Given the description of an element on the screen output the (x, y) to click on. 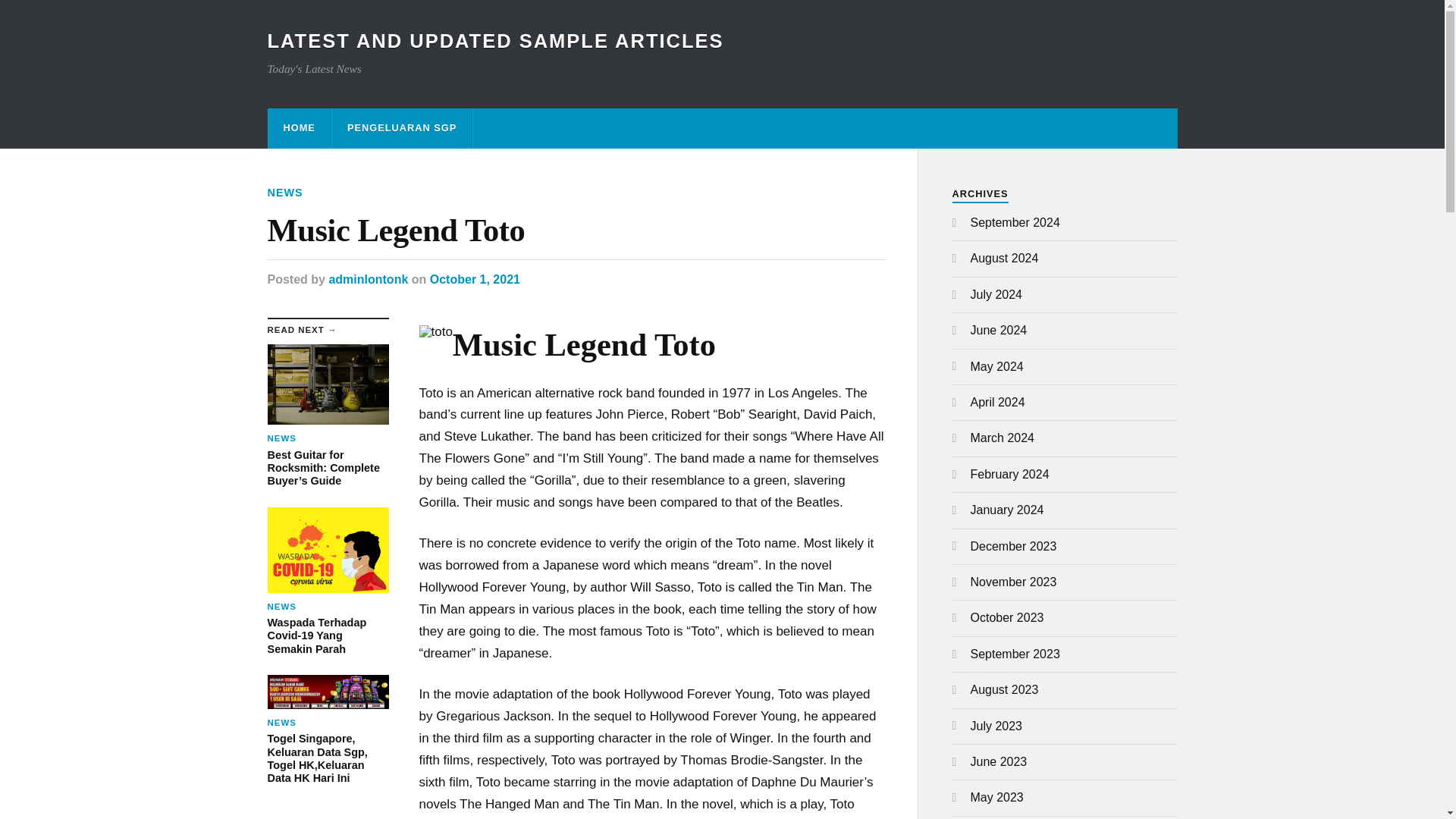
August 2023 (1005, 689)
May 2023 (997, 797)
June 2023 (999, 761)
April 2024 (998, 401)
November 2023 (1014, 581)
September 2023 (1015, 653)
December 2023 (1014, 545)
January 2024 (1007, 509)
February 2024 (1010, 473)
